Given the description of an element on the screen output the (x, y) to click on. 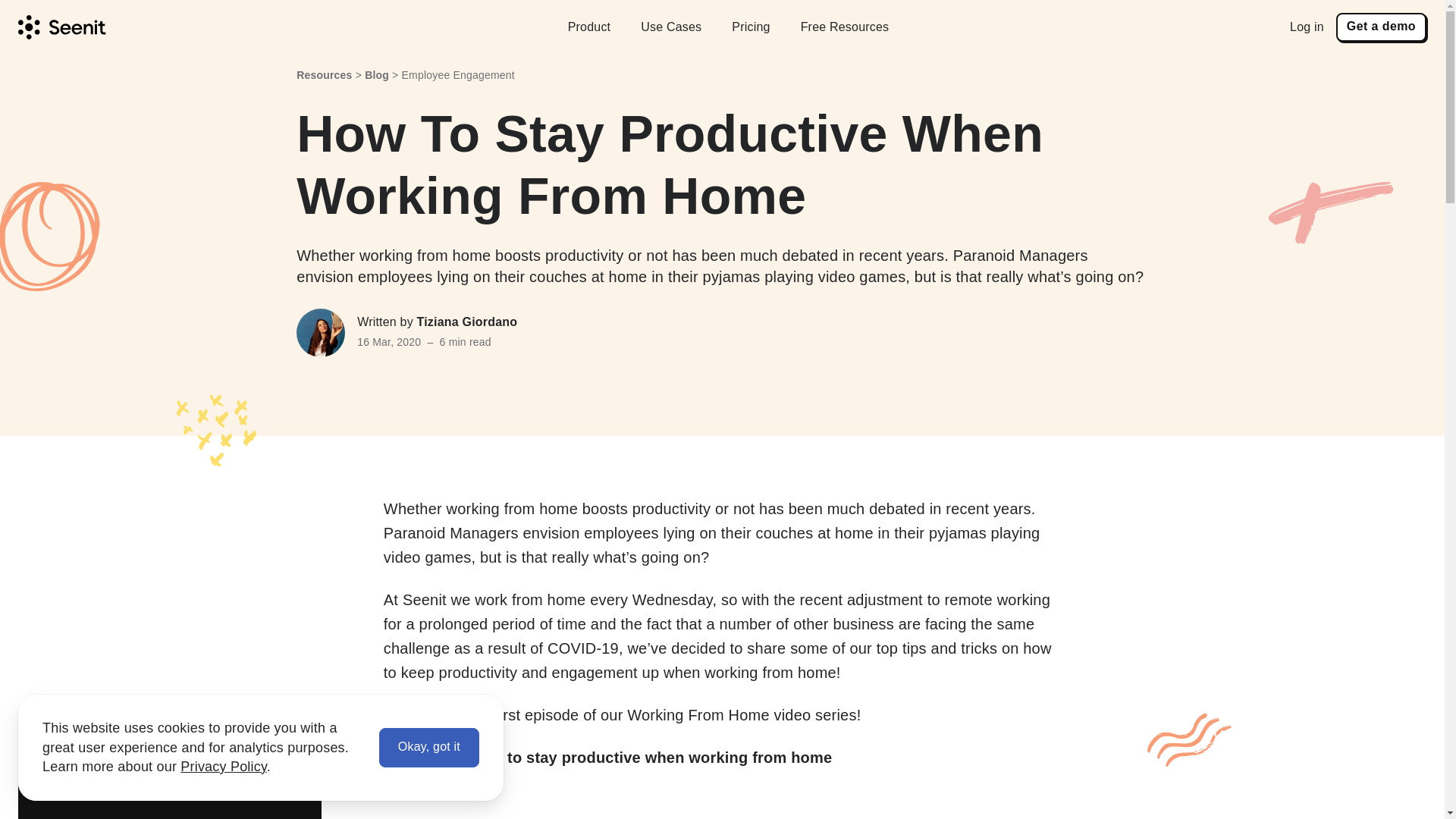
Product (589, 27)
Free Resources (845, 27)
Resources (324, 74)
Blog (376, 74)
Privacy Policy (223, 766)
Pricing (750, 27)
Log in (1306, 27)
Use Cases (670, 27)
Get a demo (1381, 27)
Okay, got it (428, 747)
